Given the description of an element on the screen output the (x, y) to click on. 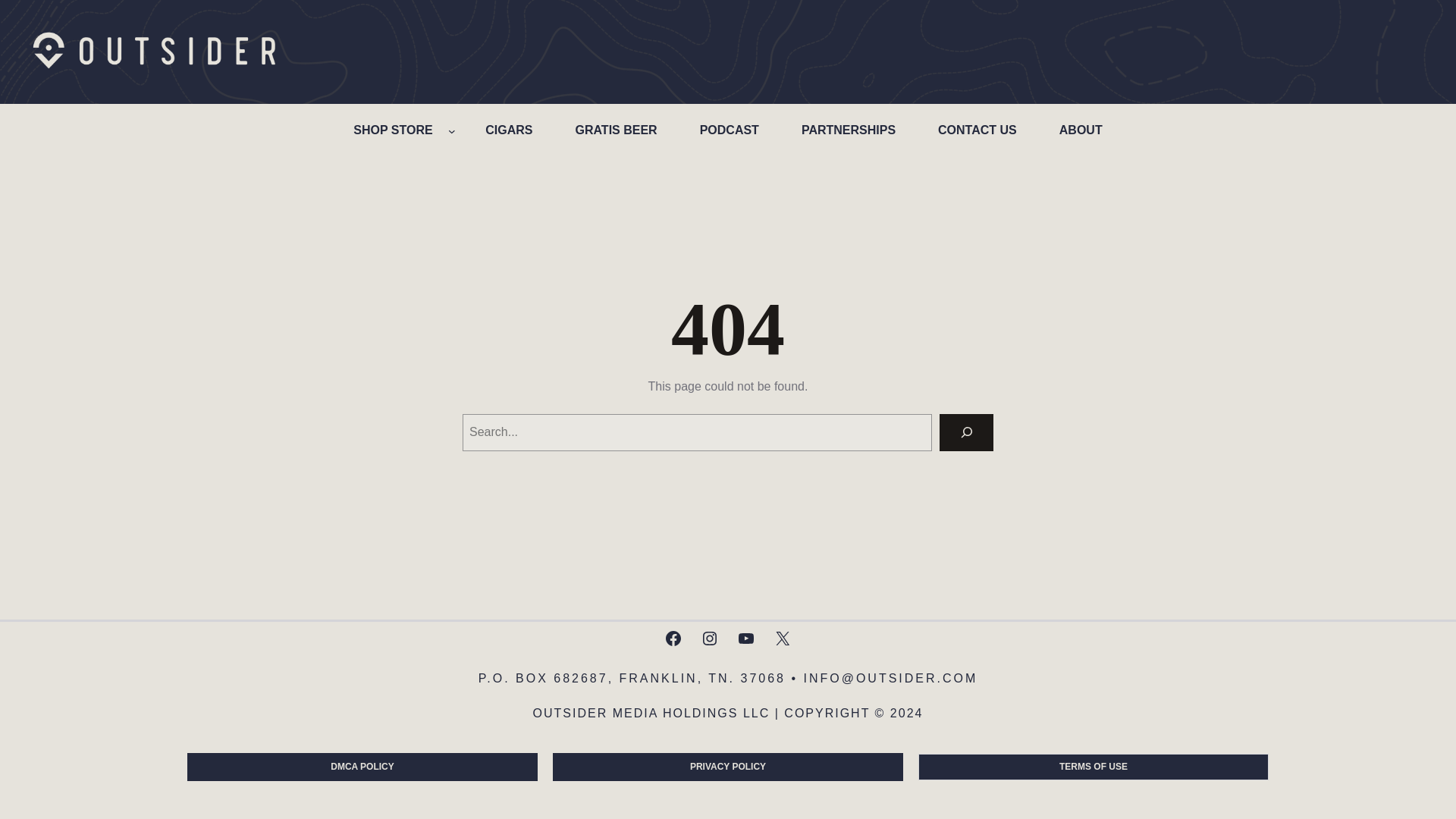
PODCAST (729, 130)
PARTNERSHIPS (848, 130)
CIGARS (508, 130)
SHOP STORE (392, 130)
Instagram (709, 638)
X (782, 638)
TERMS OF USE (1093, 766)
GRATIS BEER (615, 130)
ABOUT (1080, 130)
Facebook (672, 638)
